Given the description of an element on the screen output the (x, y) to click on. 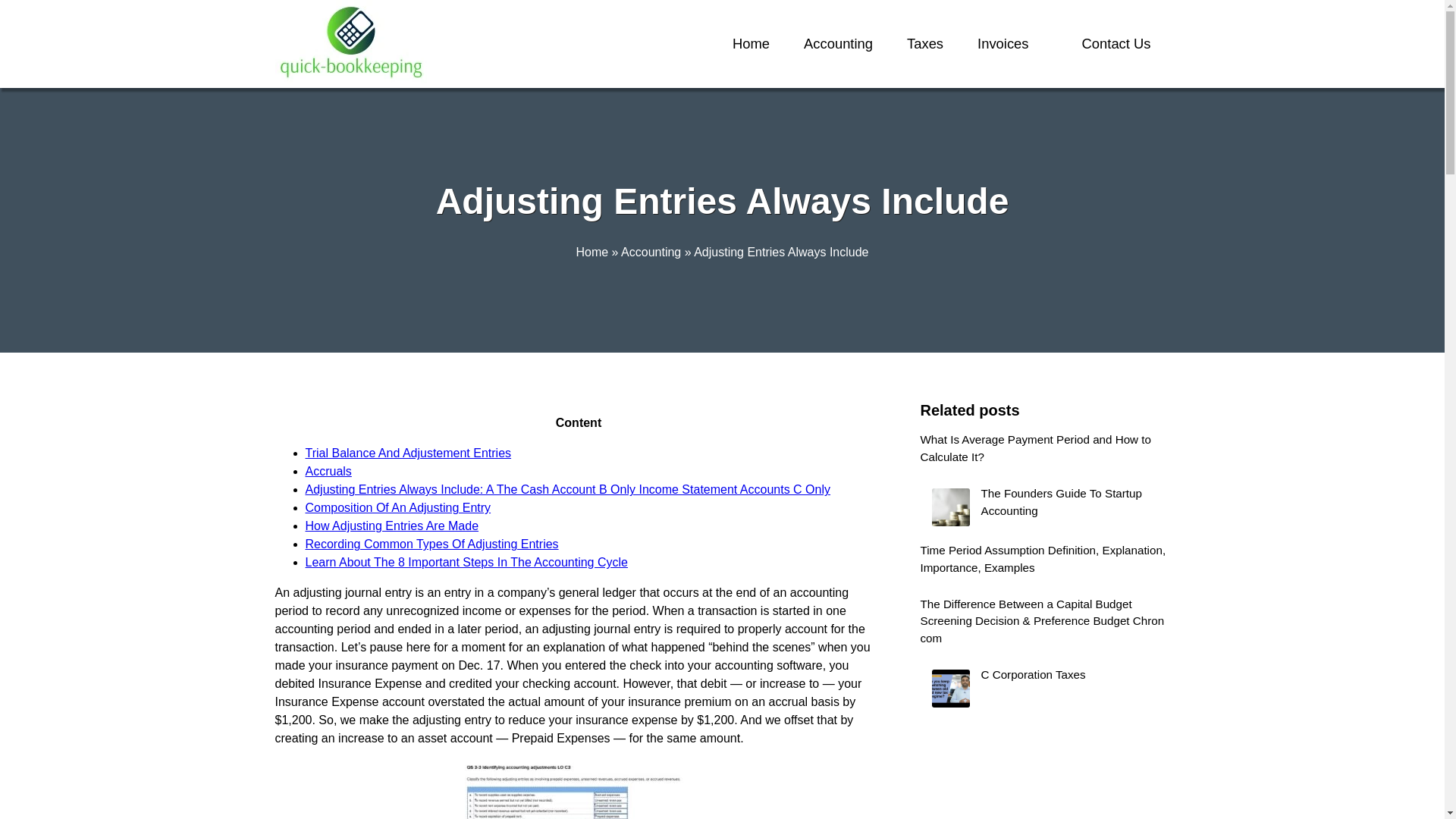
Accruals (327, 471)
Recording Common Types Of Adjusting Entries (430, 543)
Composition Of An Adjusting Entry (397, 507)
Invoices (1001, 43)
The Founders Guide To Startup Accounting (1045, 507)
What Is Average Payment Period and How to Calculate It? (1045, 451)
How Adjusting Entries Are Made (391, 525)
Accounting (837, 43)
